Given the description of an element on the screen output the (x, y) to click on. 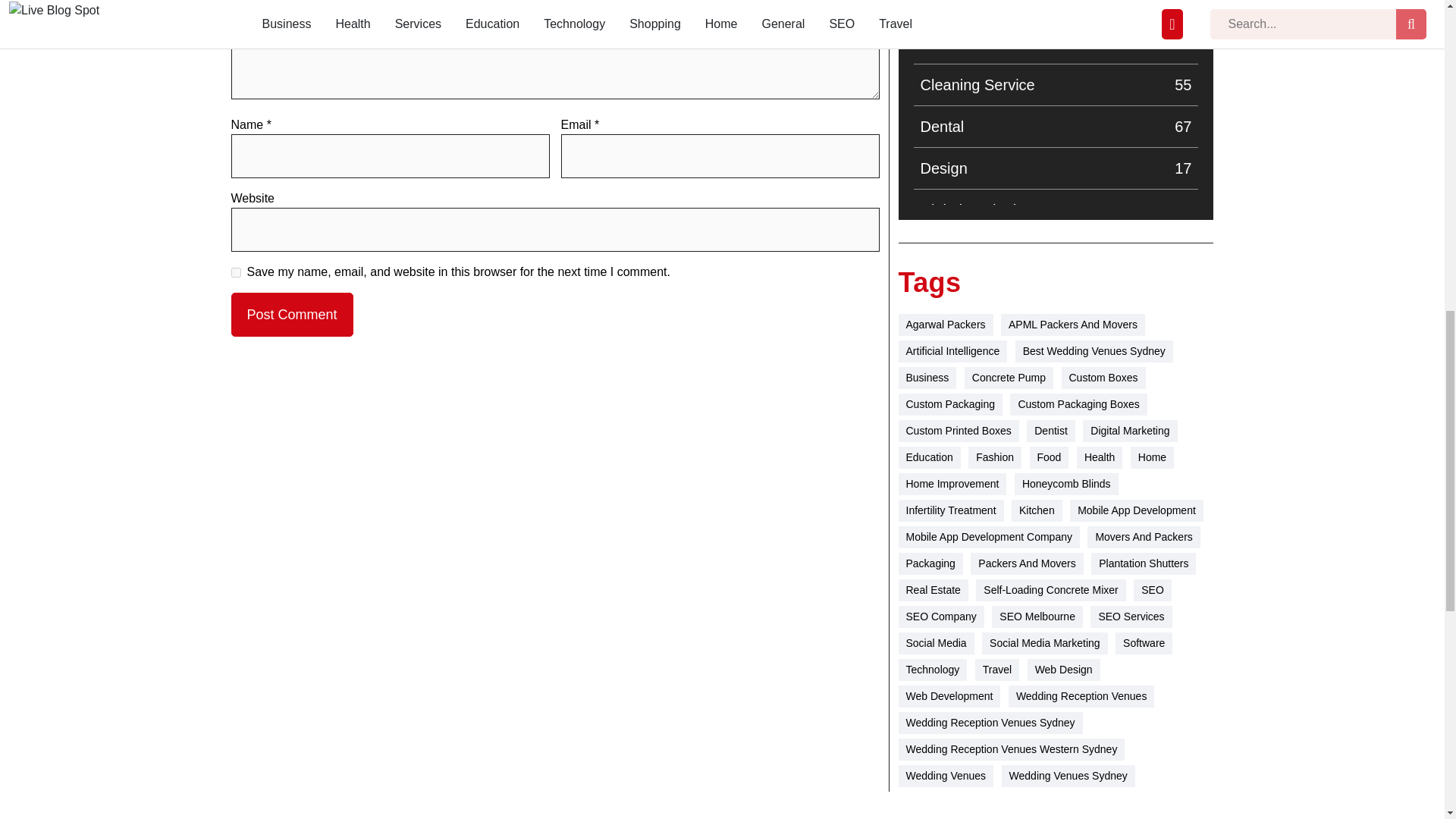
Post Comment (1056, 376)
yes (1056, 334)
Post Comment (1056, 84)
